Given the description of an element on the screen output the (x, y) to click on. 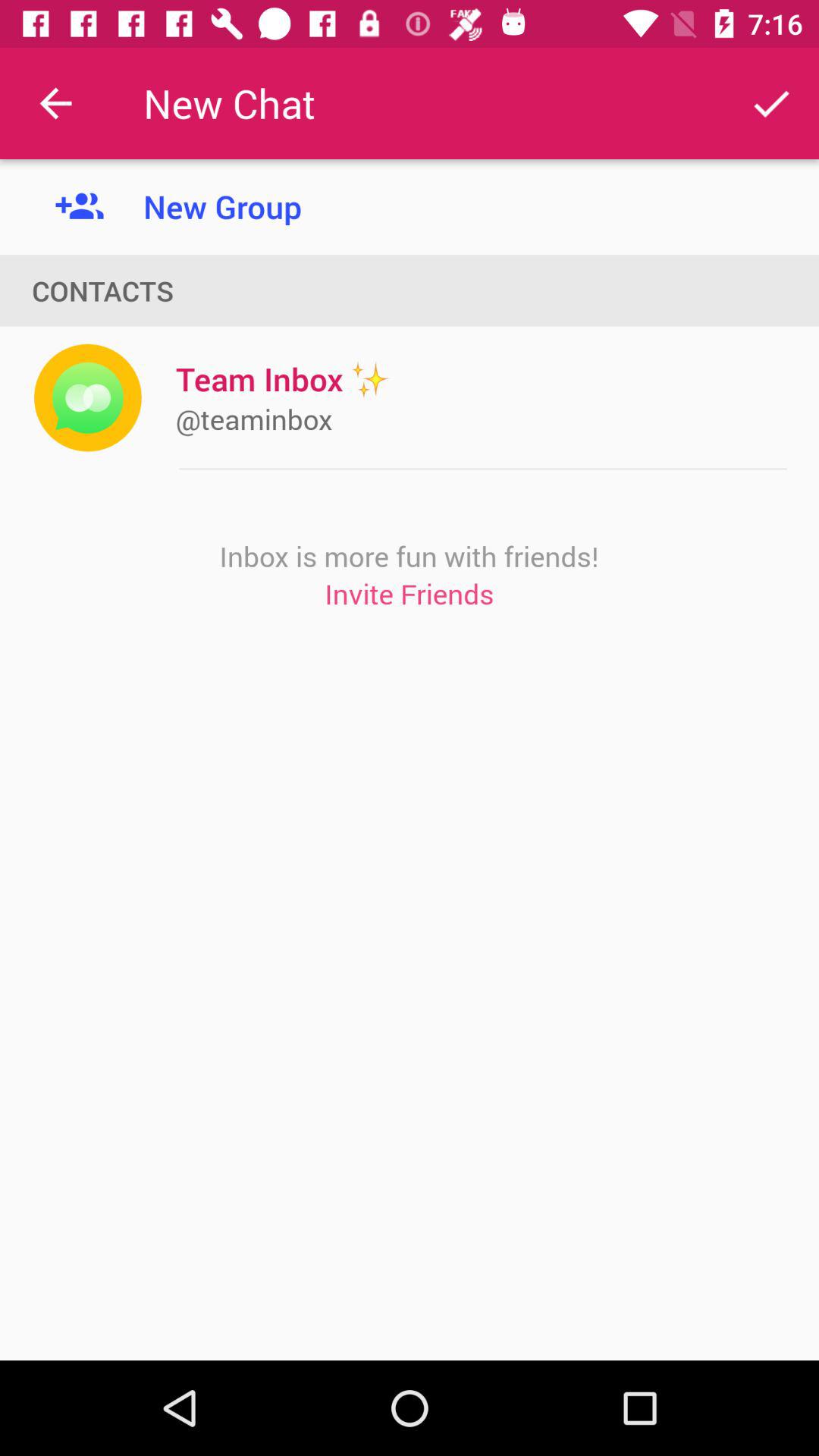
launch the icon next to the new chat item (771, 103)
